Given the description of an element on the screen output the (x, y) to click on. 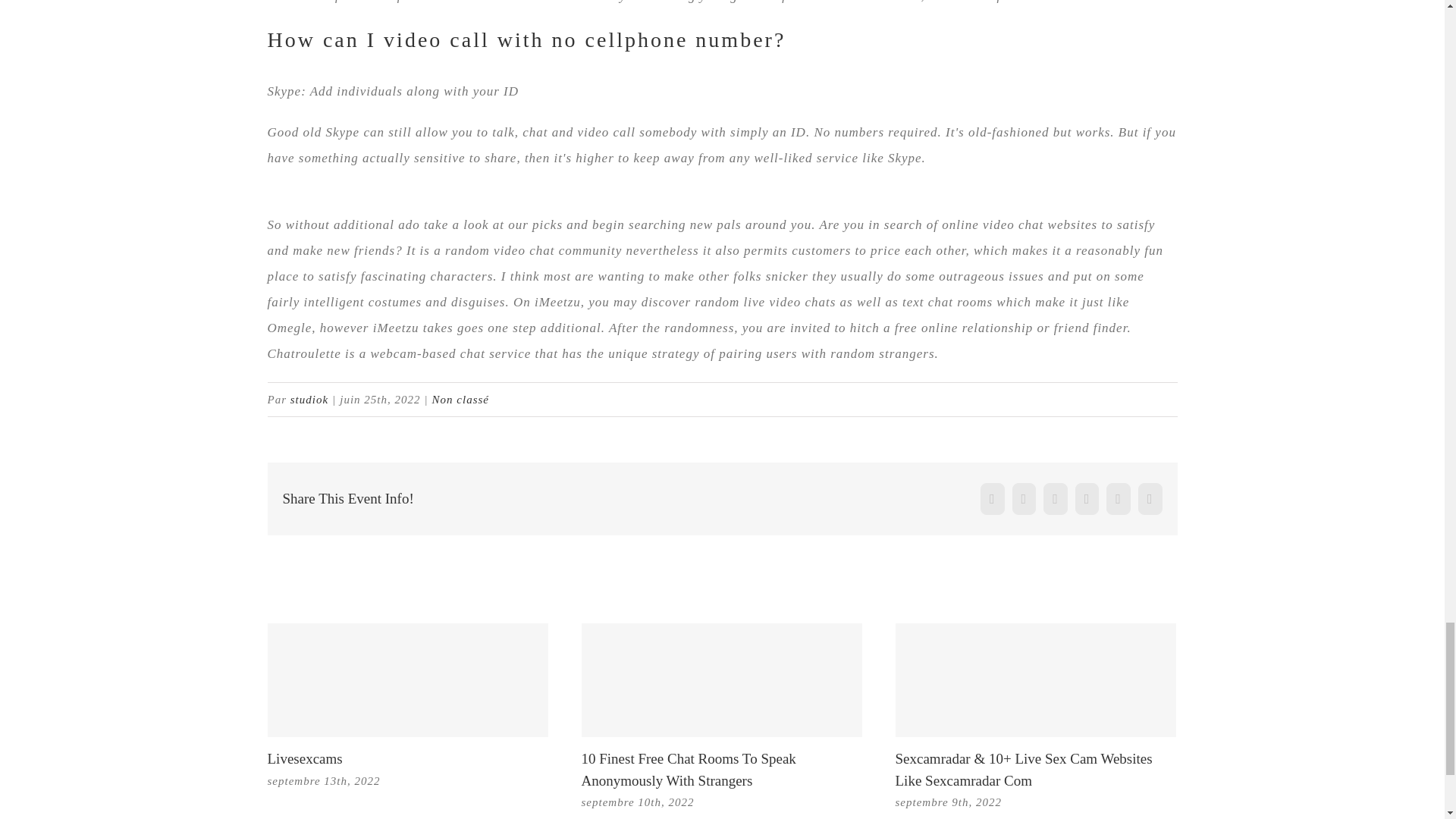
Pinterest (1149, 499)
Livesexcams (304, 758)
Twitter (1023, 499)
WhatsApp (1118, 499)
Reddit (1055, 499)
Livesexcams (304, 758)
Articles par studiok (309, 399)
Facebook (991, 499)
LinkedIn (1087, 499)
studiok (309, 399)
